Given the description of an element on the screen output the (x, y) to click on. 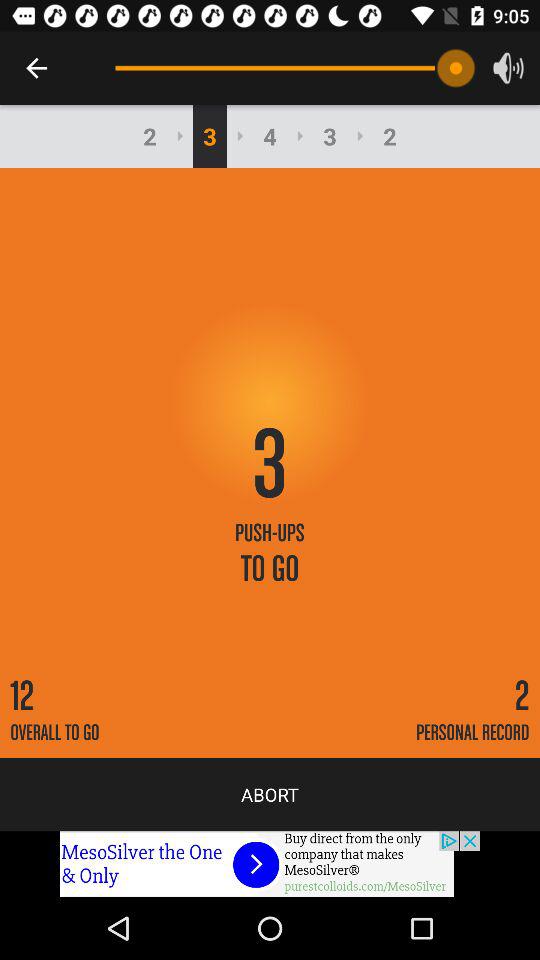
toggle autoplay option (270, 864)
